Given the description of an element on the screen output the (x, y) to click on. 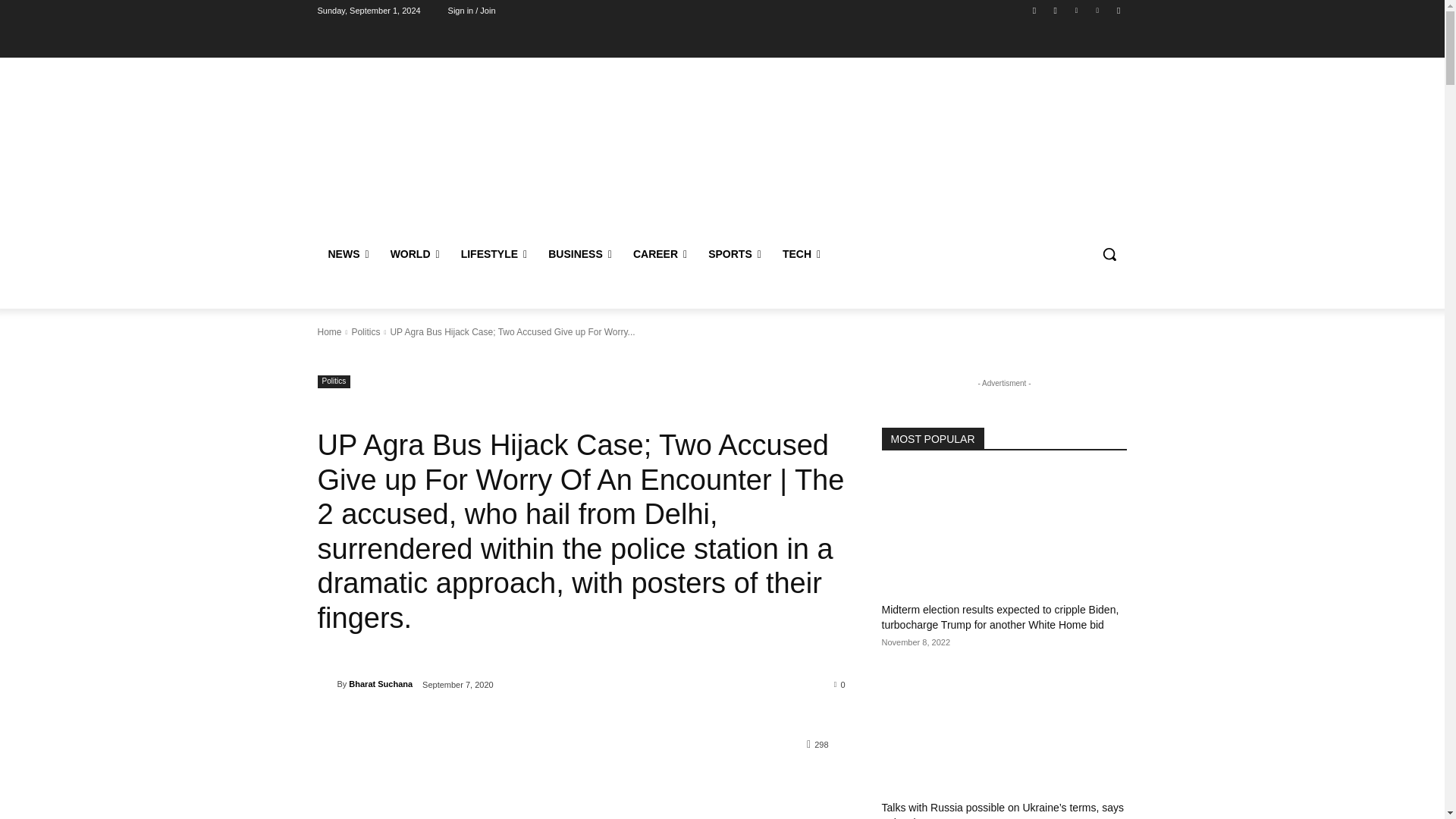
Twitter (1075, 9)
View all posts in Politics (365, 331)
Facebook (1034, 9)
Youtube (1117, 9)
Bharatsuchana.com logo (425, 135)
Instagram (1055, 9)
Vimeo (1097, 9)
Bharat Suchana (326, 683)
